Given the description of an element on the screen output the (x, y) to click on. 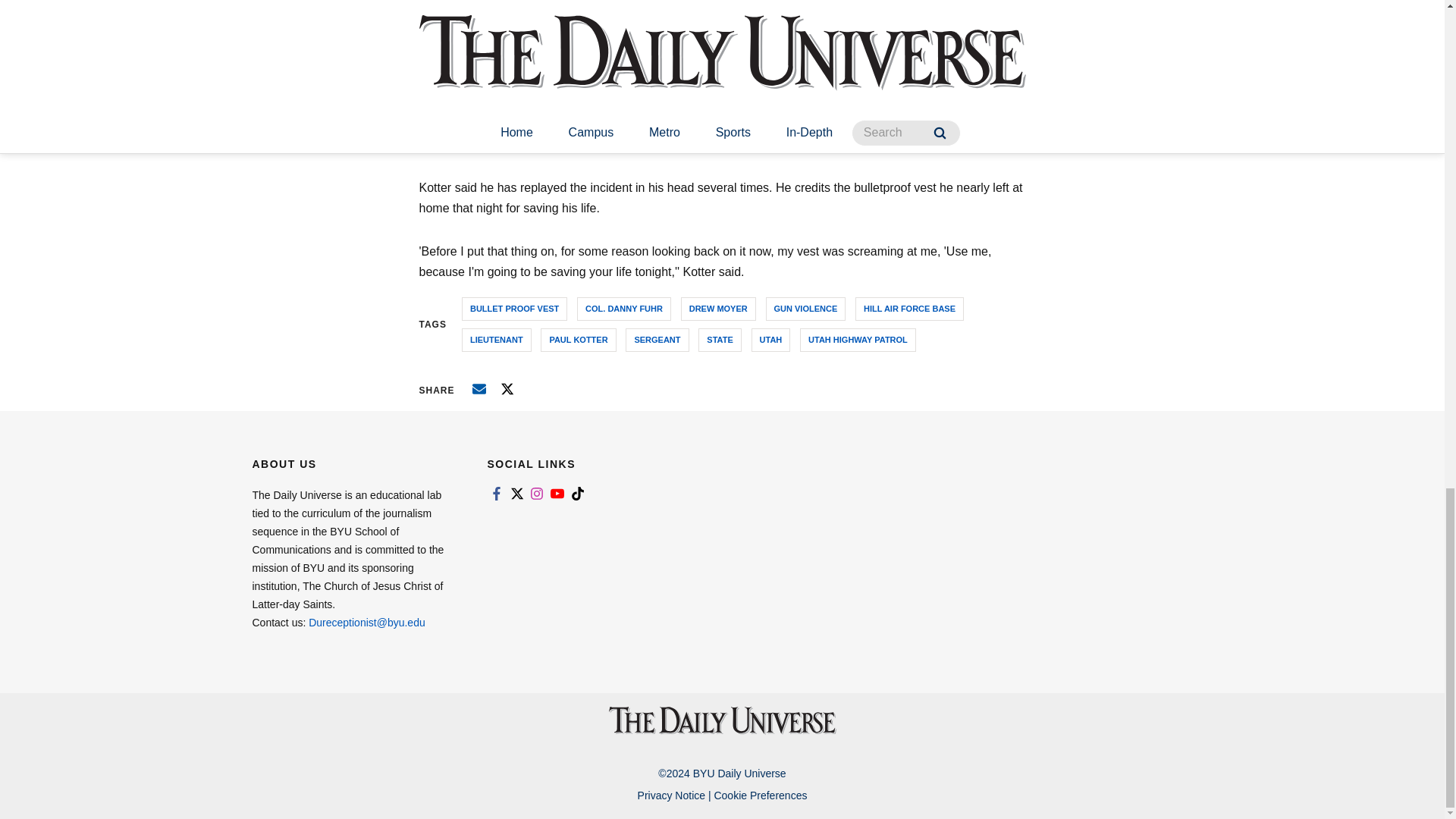
PAUL KOTTER (577, 340)
Link to instagram (536, 493)
BULLET PROOF VEST (514, 309)
SERGEANT (657, 340)
HILL AIR FORCE BASE (909, 309)
GUN VIOLENCE (805, 309)
LIEUTENANT (496, 340)
UTAH (770, 340)
DREW MOYER (718, 309)
Link to twitter (515, 493)
